Given the description of an element on the screen output the (x, y) to click on. 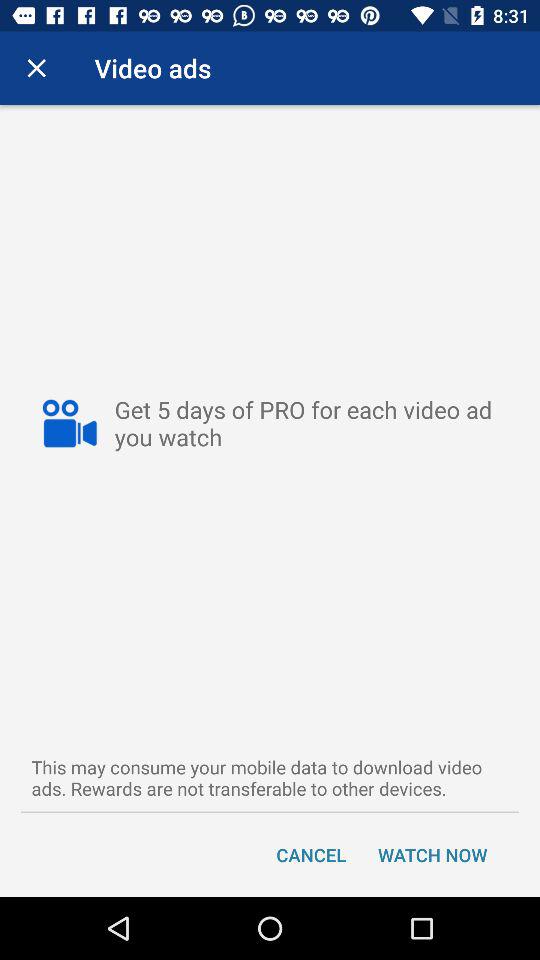
choose the item at the bottom right corner (432, 854)
